Given the description of an element on the screen output the (x, y) to click on. 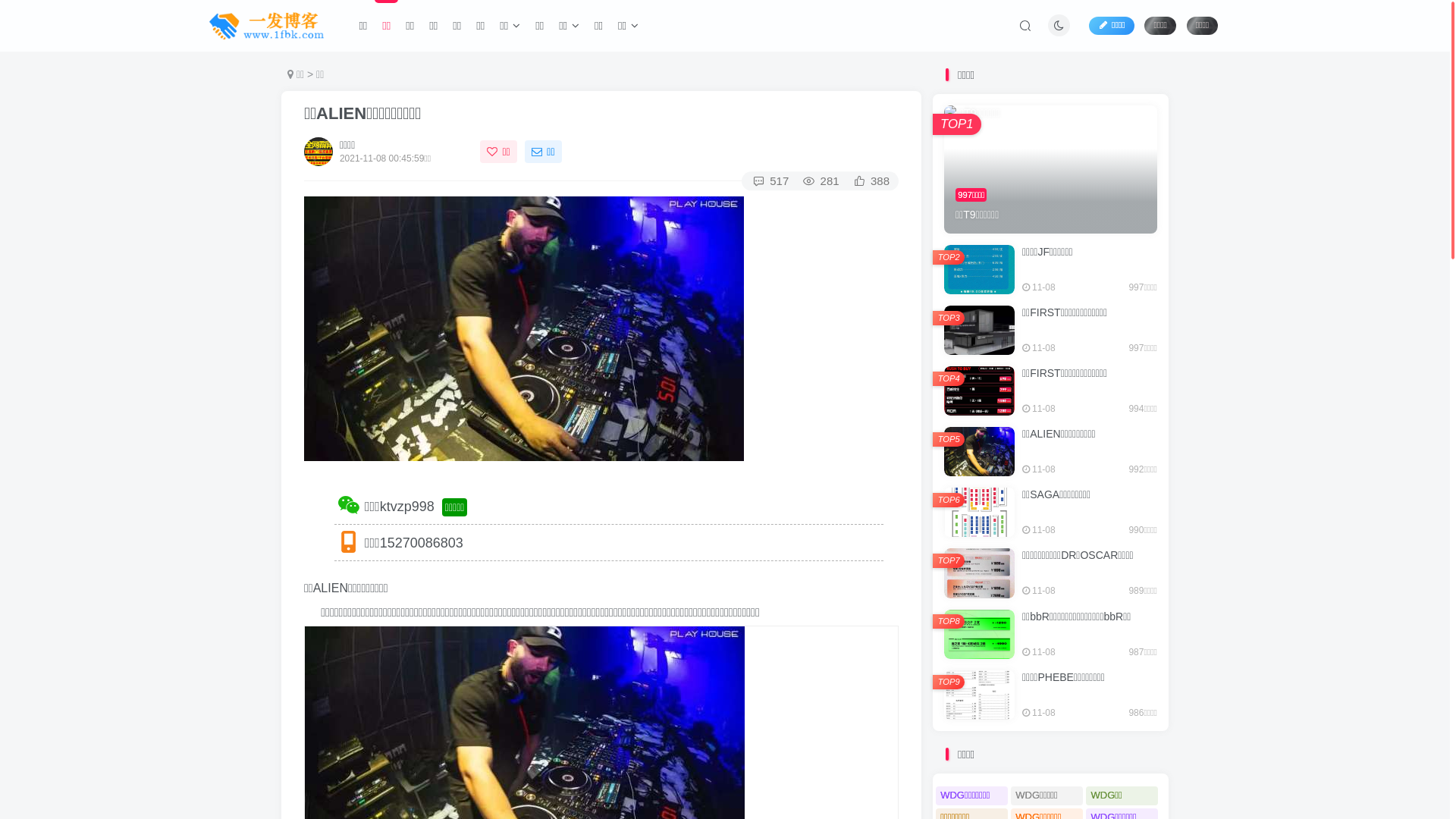
517 Element type: text (769, 180)
